Given the description of an element on the screen output the (x, y) to click on. 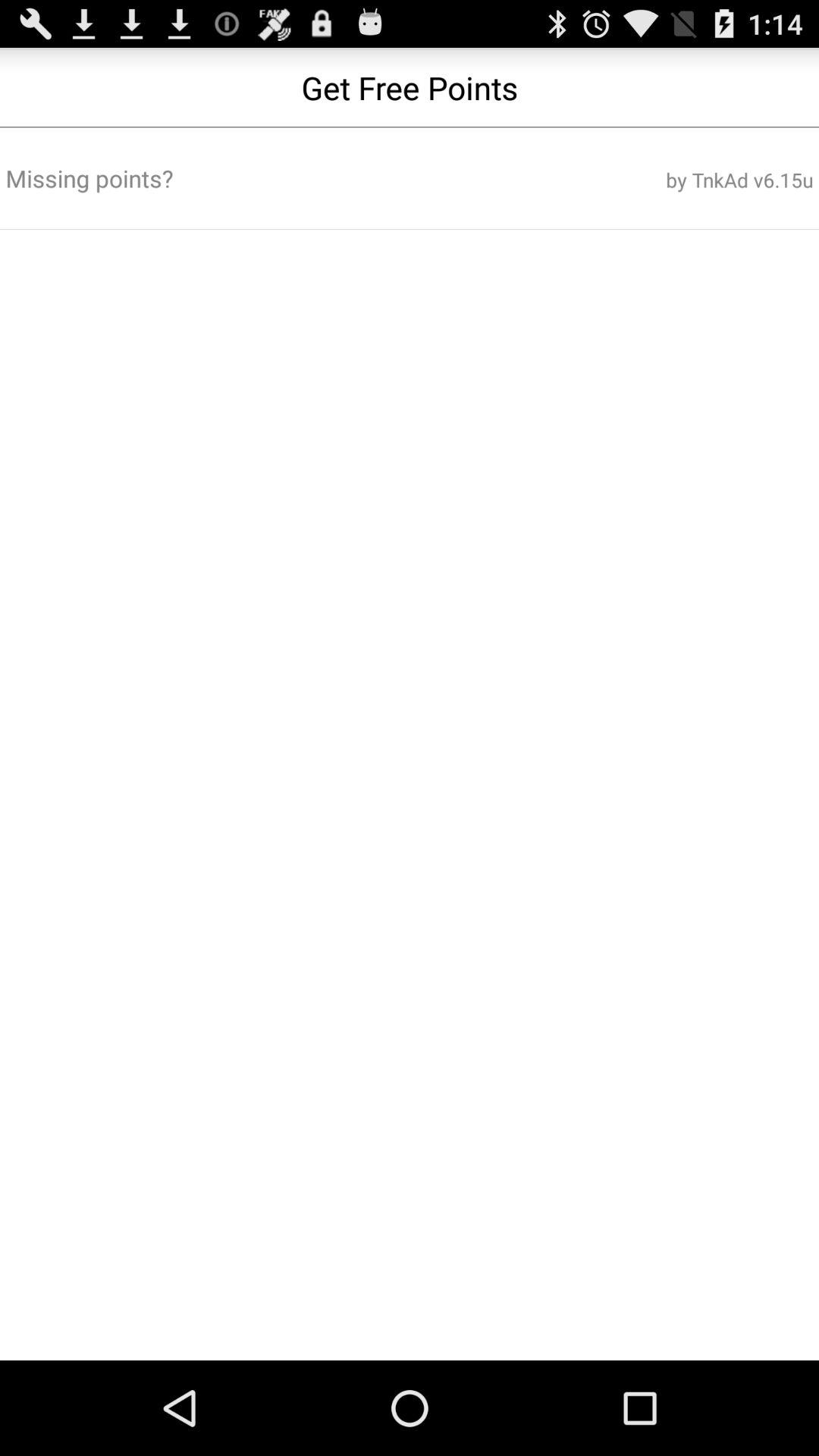
launch the icon below get free points app (677, 180)
